Given the description of an element on the screen output the (x, y) to click on. 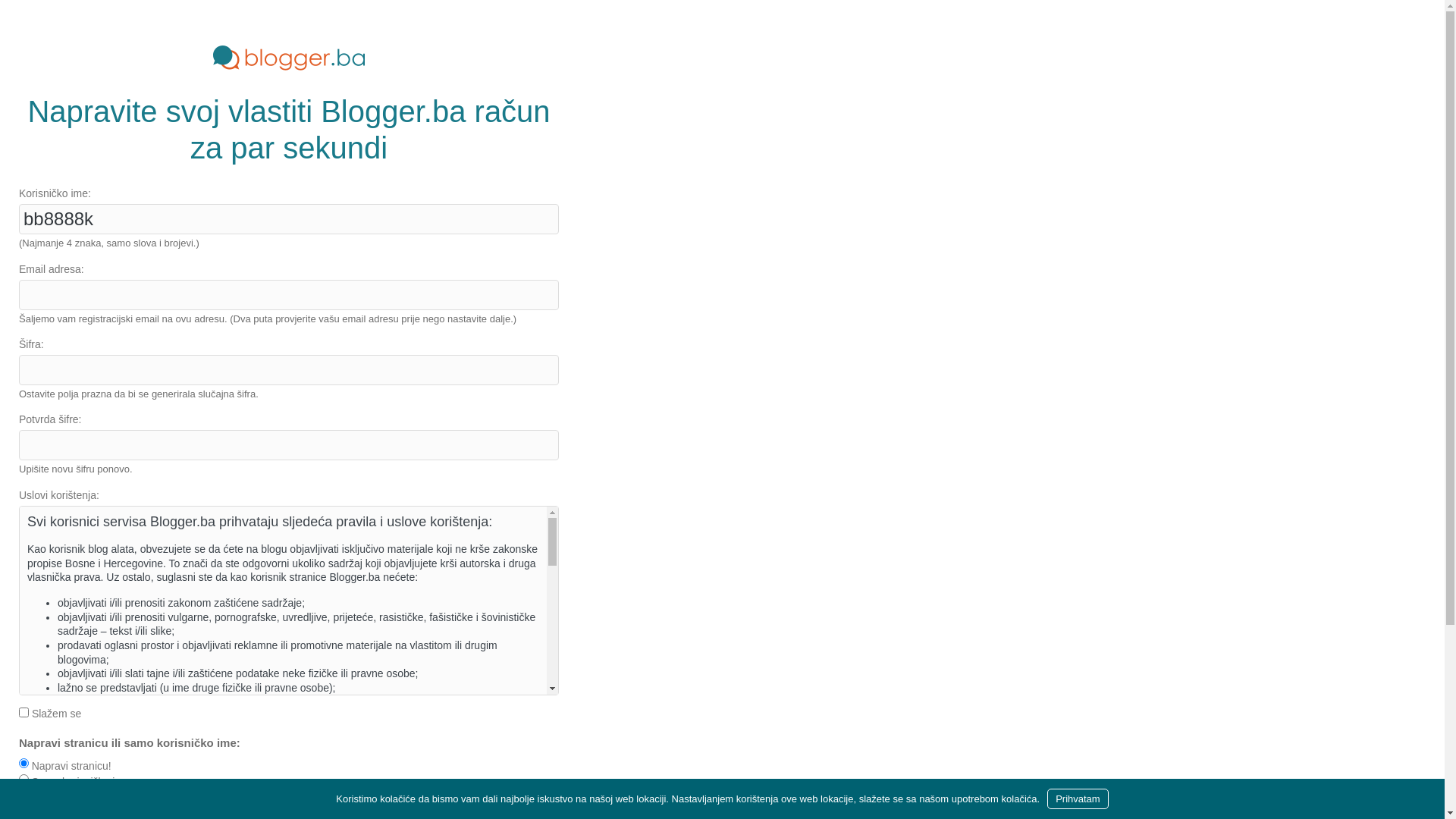
Prihvatam Element type: text (1077, 798)
